Given the description of an element on the screen output the (x, y) to click on. 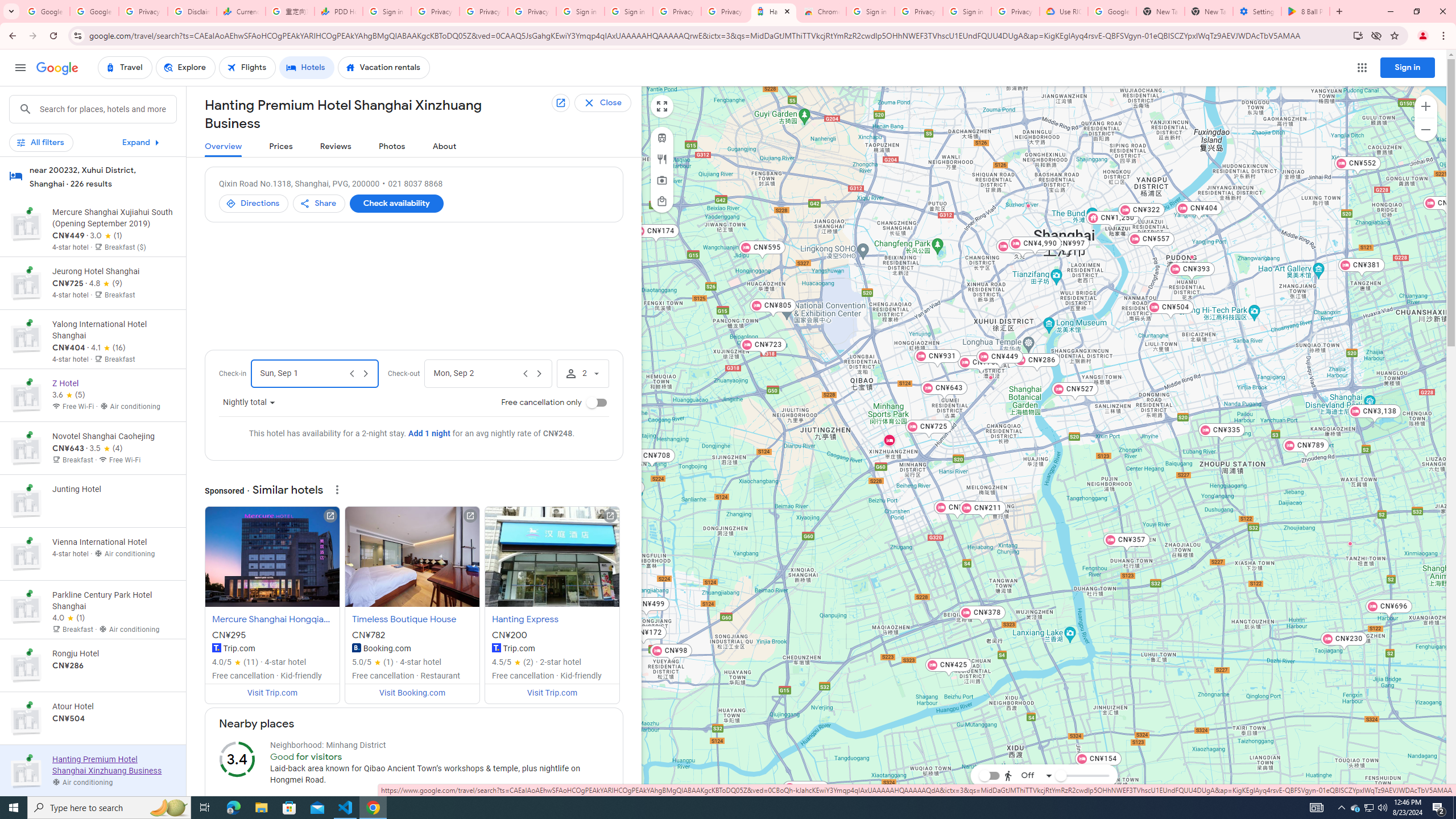
Vacation rentals (383, 67)
Add 1 night (428, 433)
View prices for Novotel Shanghai Caohejing (113, 488)
4 out of 5 stars from 1 reviews (68, 618)
Main menu (20, 67)
Search for places, hotels and more (107, 108)
